Given the description of an element on the screen output the (x, y) to click on. 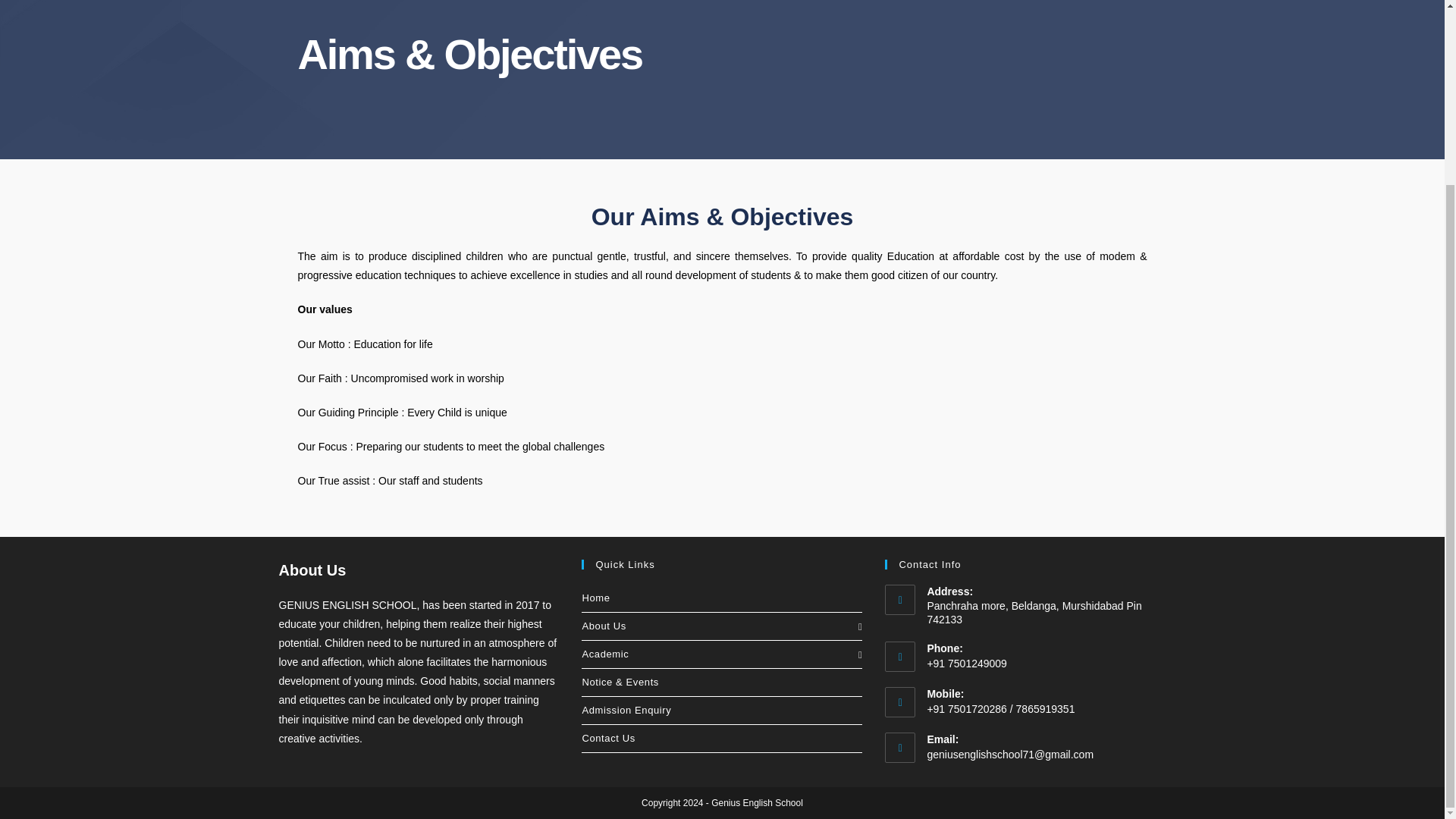
Academic (720, 654)
Home (720, 597)
Contact Us (720, 738)
Admission Enquiry (720, 709)
About Us (720, 625)
